Given the description of an element on the screen output the (x, y) to click on. 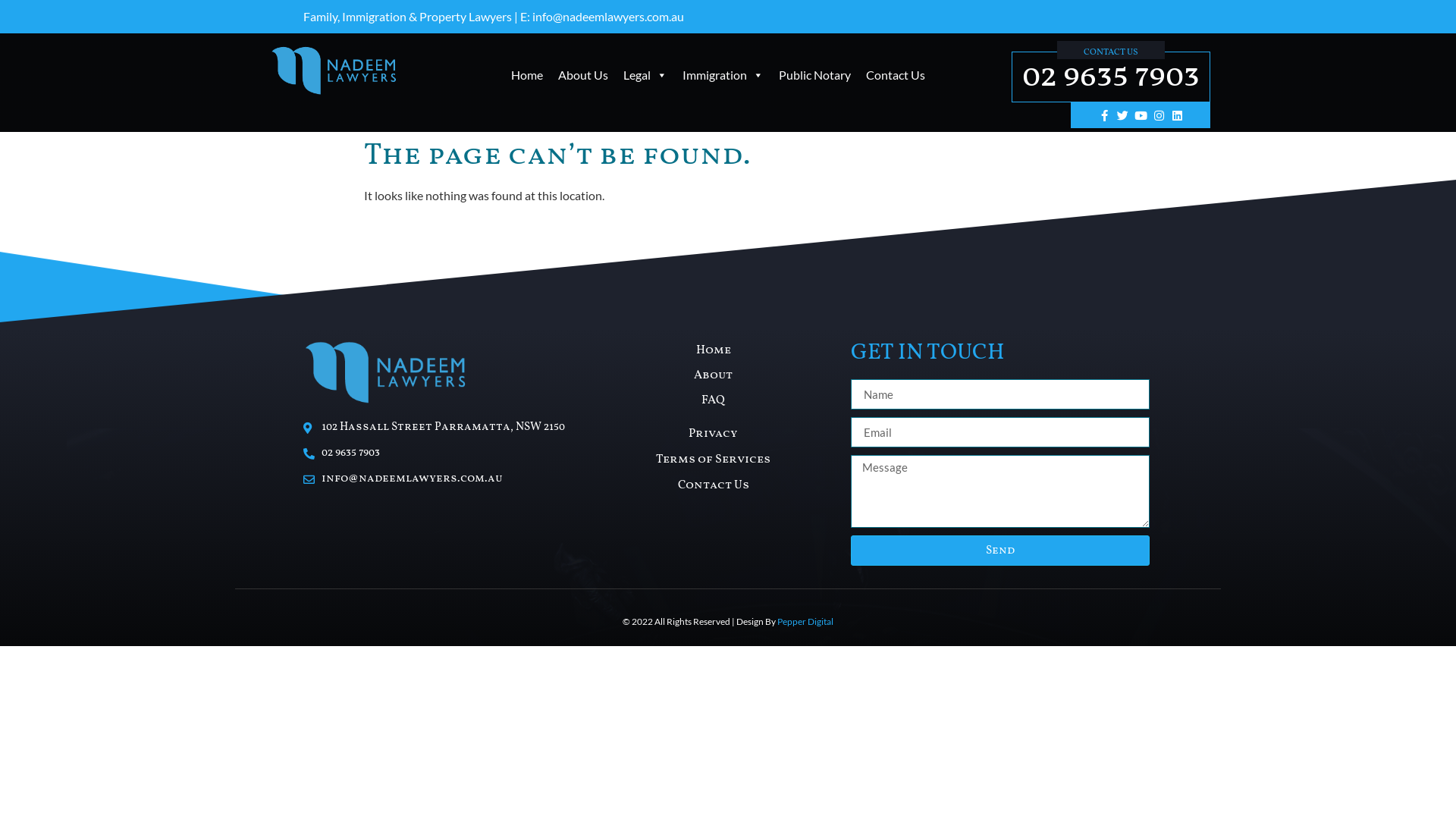
Contact Us Element type: text (713, 485)
02 9635 7903 Element type: text (1110, 76)
FAQ Element type: text (713, 400)
Pepper Digital Element type: text (805, 621)
Public Notary Element type: text (814, 74)
Home Element type: text (713, 350)
02 9635 7903 Element type: text (439, 453)
Contact Us Element type: text (895, 74)
Terms of Services Element type: text (713, 459)
Send Element type: text (999, 550)
About Element type: text (713, 375)
Legal Element type: text (644, 74)
info@nadeemlawyers.com.au Element type: text (439, 479)
Immigration Element type: text (722, 74)
Privacy Element type: text (713, 433)
Home Element type: text (526, 74)
About Us Element type: text (582, 74)
